Given the description of an element on the screen output the (x, y) to click on. 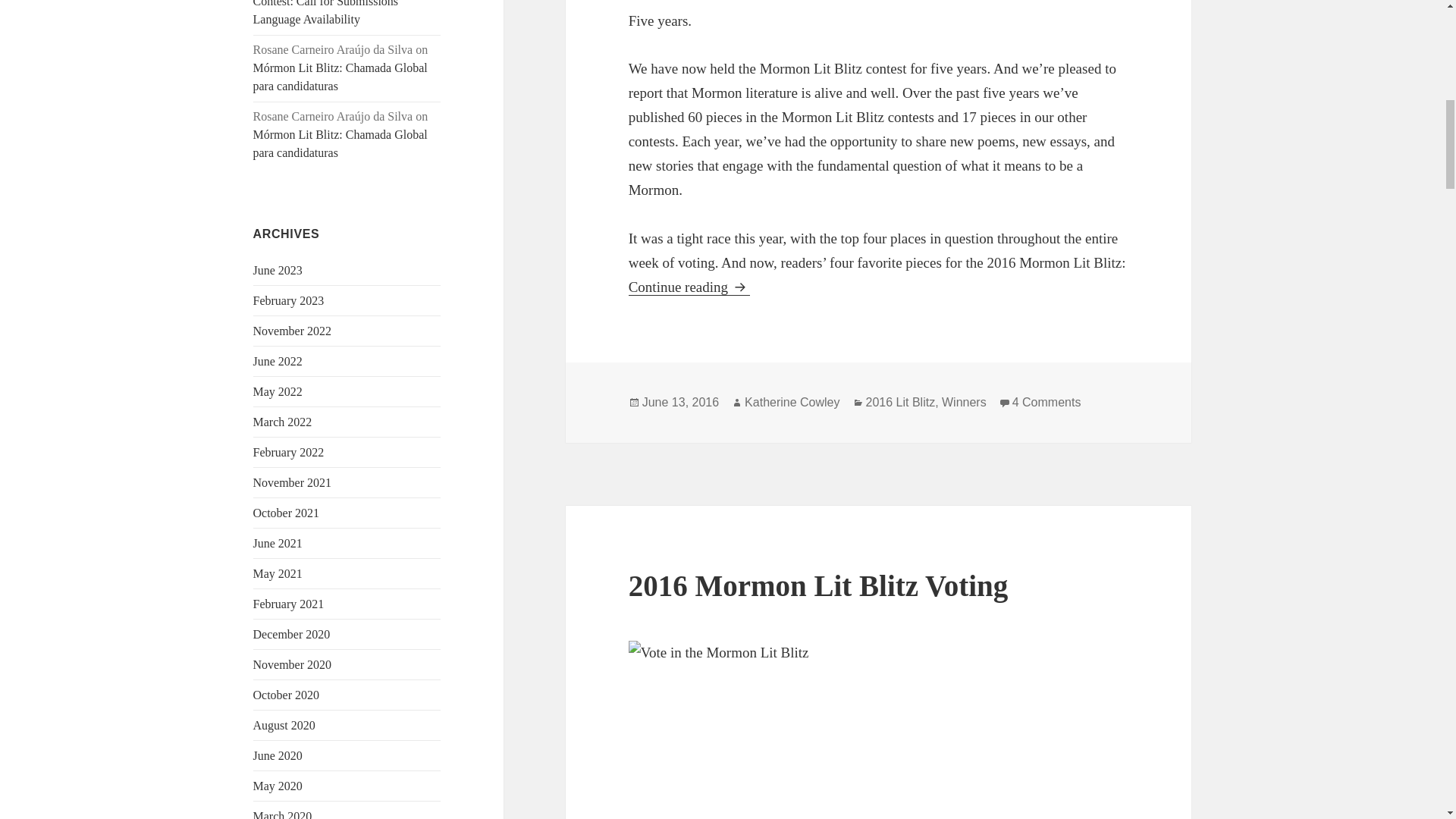
February 2022 (288, 451)
June 2023 (277, 269)
May 2021 (277, 573)
June 2020 (277, 755)
February 2021 (288, 603)
May 2020 (277, 785)
June 2021 (277, 543)
November 2022 (292, 330)
December 2020 (291, 634)
October 2021 (286, 512)
March 2022 (283, 421)
August 2020 (284, 725)
March 2020 (283, 814)
October 2020 (286, 694)
